Given the description of an element on the screen output the (x, y) to click on. 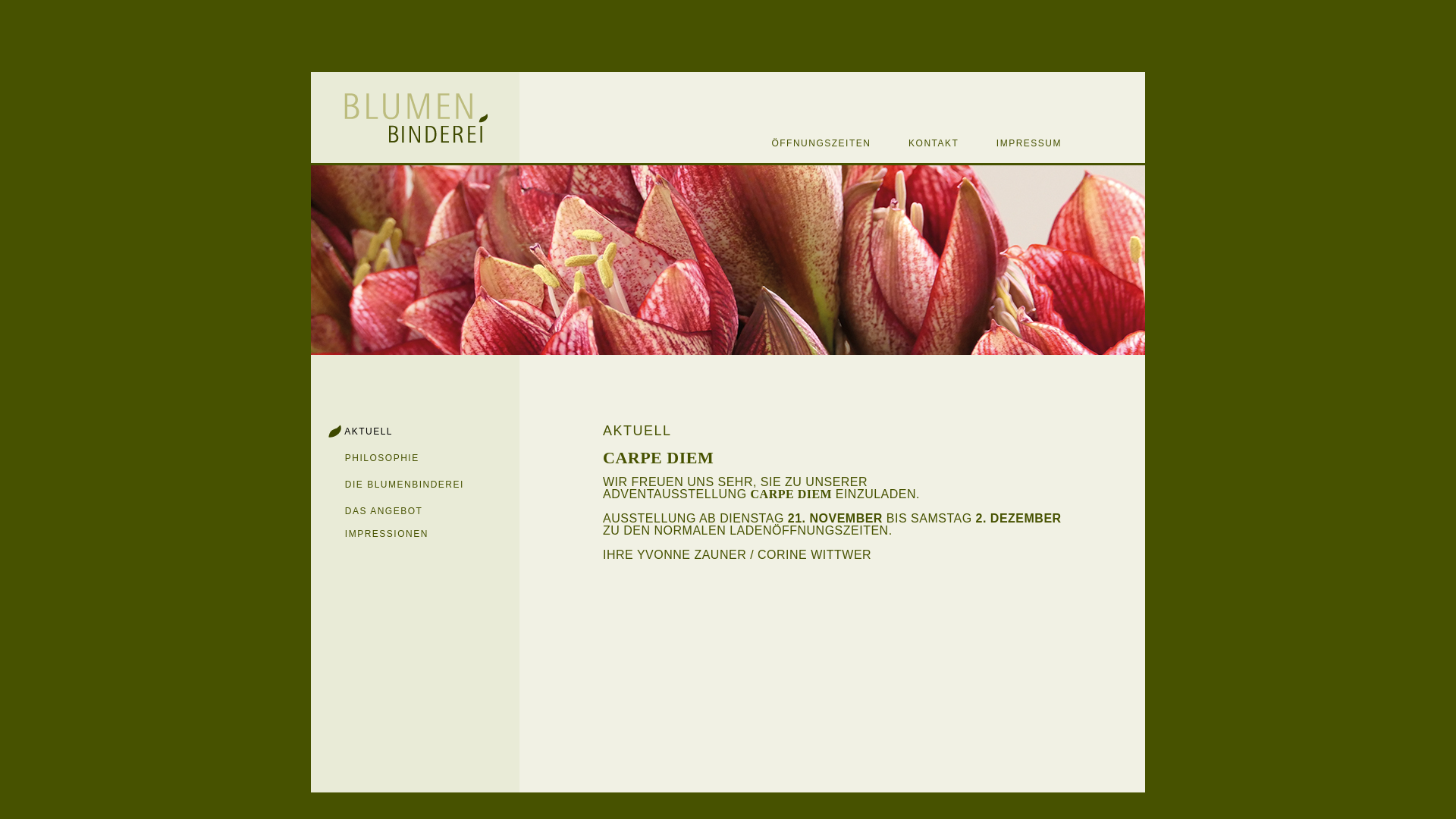
 DAS ANGEBOT Element type: text (368, 510)
 PHILOSOPHIE Element type: text (366, 456)
 IMPRESSIONEN Element type: text (369, 532)
 AKTUELL Element type: text (352, 431)
 IMPRESSUM Element type: text (1011, 143)
 DIE BLUMENBINDEREI Element type: text (388, 484)
 KONTAKT Element type: text (918, 143)
